Given the description of an element on the screen output the (x, y) to click on. 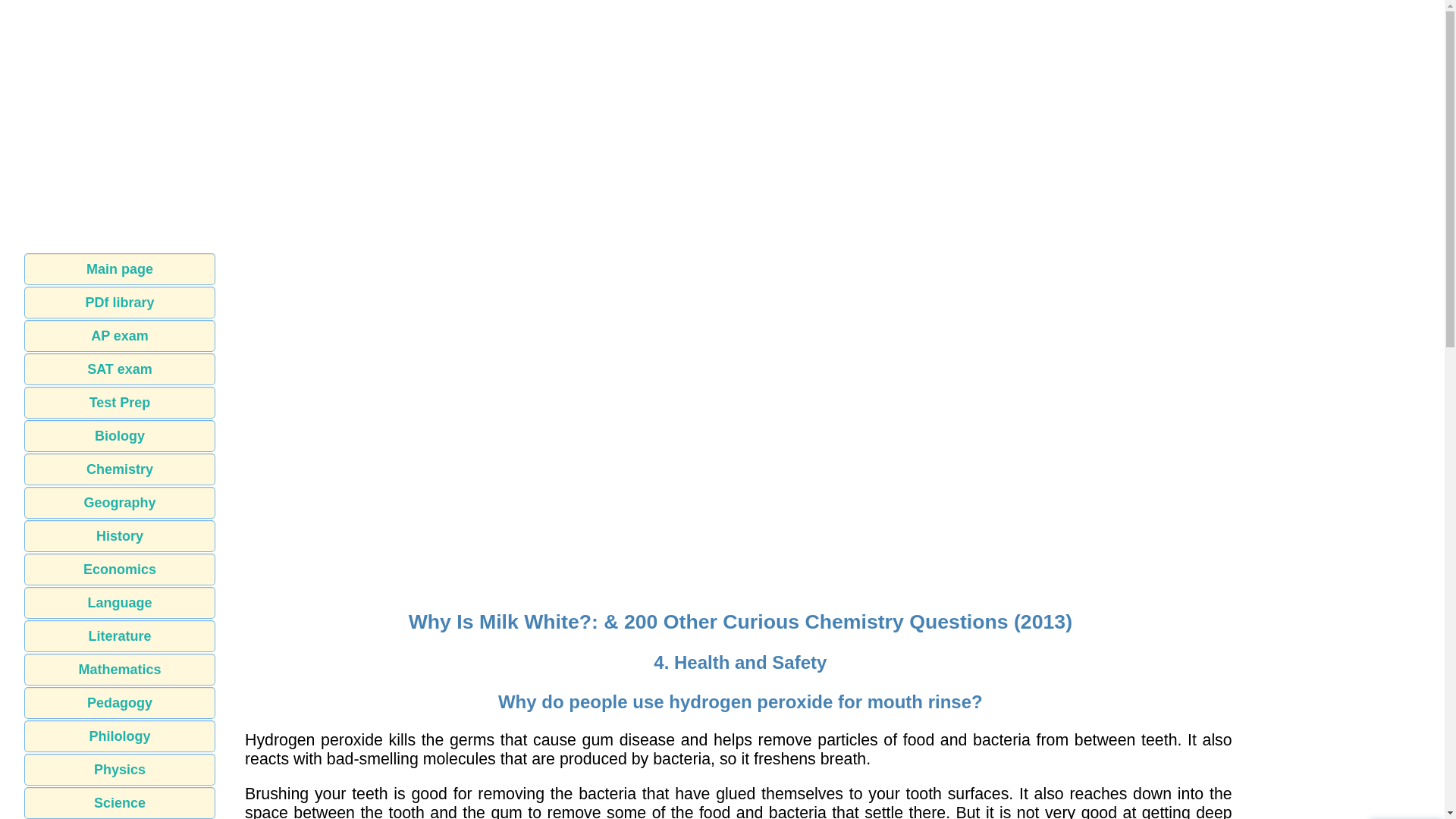
History (119, 536)
Mathematics (119, 669)
Economics (119, 569)
Philology (119, 736)
Pedagogy (119, 703)
Literature (119, 635)
Main page (119, 269)
Chemistry (119, 469)
Test Prep (119, 402)
Geography (119, 502)
